Given the description of an element on the screen output the (x, y) to click on. 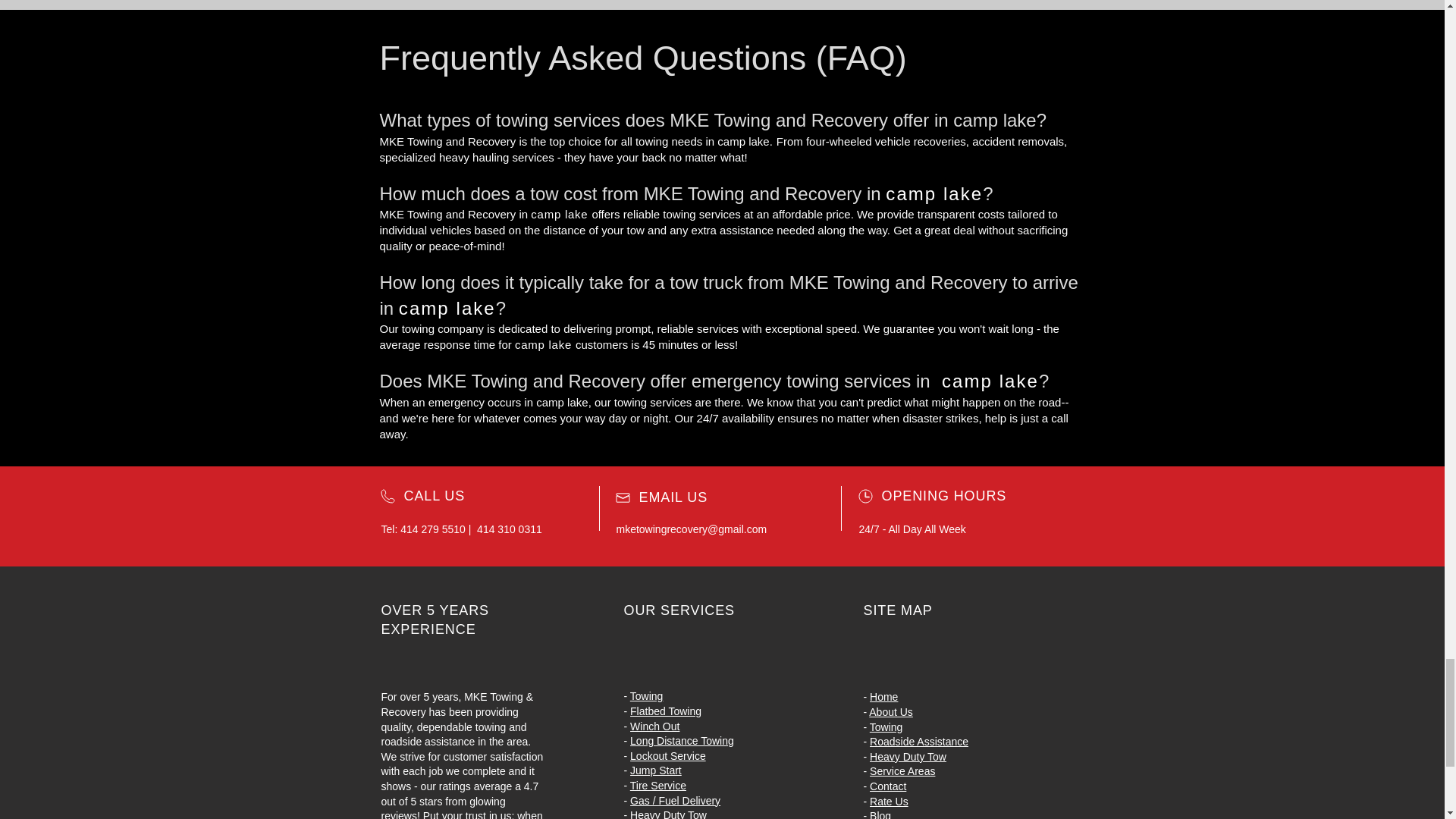
camp lake (543, 344)
Flatbed Towing (665, 711)
camp lake (559, 214)
Towing (646, 695)
Winch Out (654, 726)
